Given the description of an element on the screen output the (x, y) to click on. 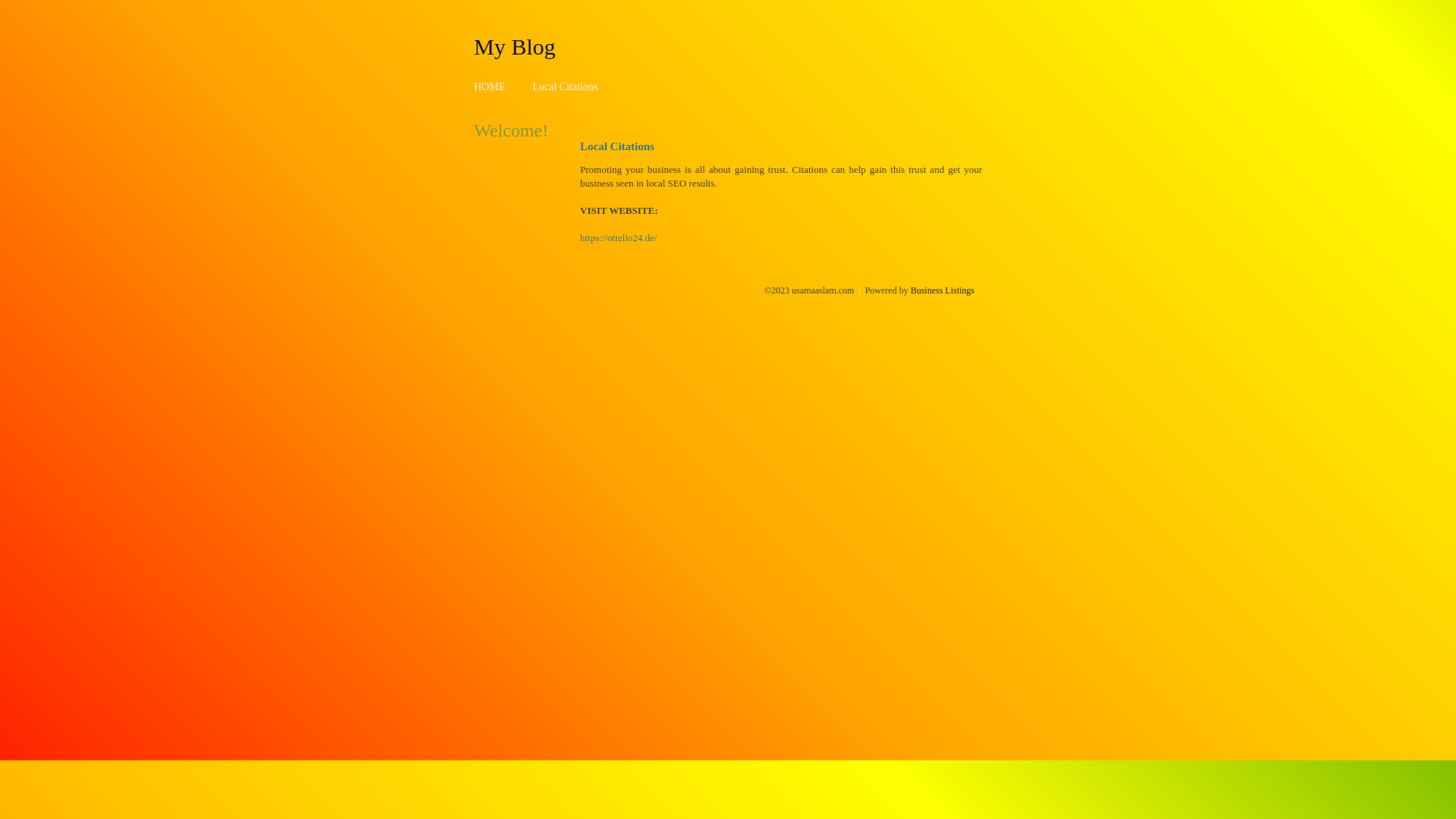
Local Citations Element type: text (564, 86)
https://ottello24.de/ Element type: text (618, 237)
Business Listings Element type: text (942, 290)
HOME Element type: text (489, 86)
My Blog Element type: text (514, 46)
